Given the description of an element on the screen output the (x, y) to click on. 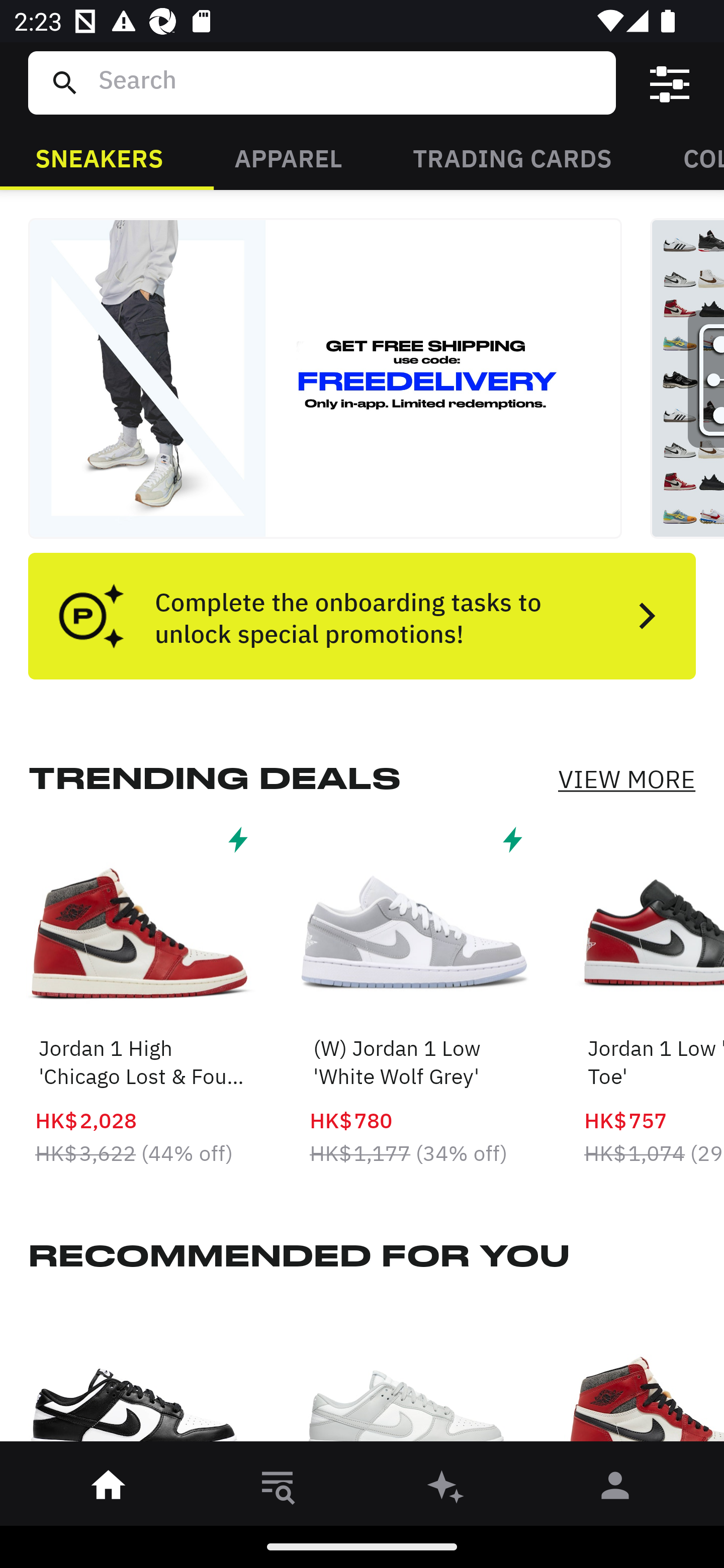
Search (349, 82)
 (669, 82)
SNEAKERS (99, 156)
APPAREL (287, 156)
TRADING CARDS (512, 156)
VIEW MORE (626, 779)
󰋜 (108, 1488)
󱎸 (277, 1488)
󰫢 (446, 1488)
󰀄 (615, 1488)
